Given the description of an element on the screen output the (x, y) to click on. 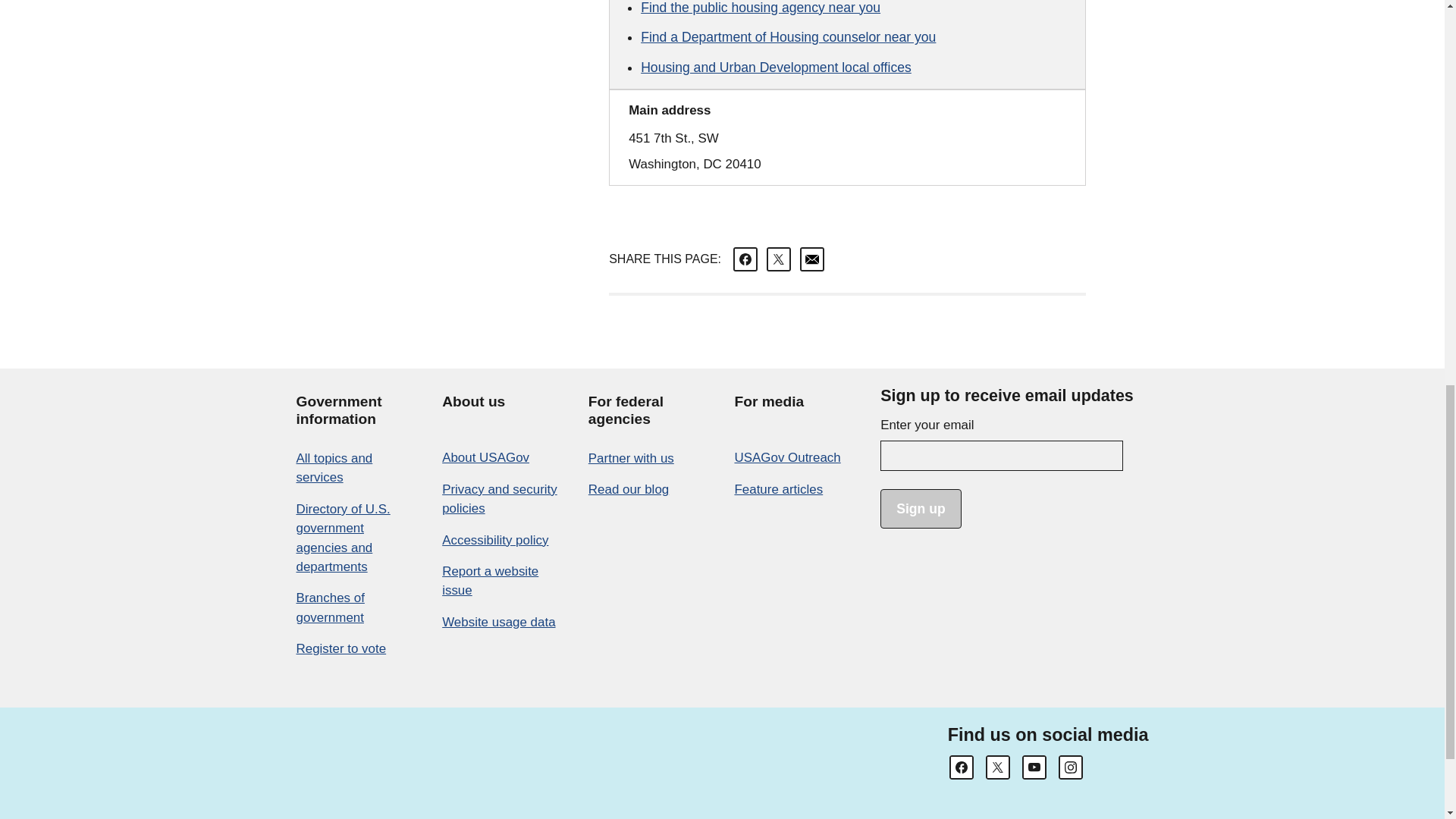
Find the public housing agency near you (760, 7)
